Given the description of an element on the screen output the (x, y) to click on. 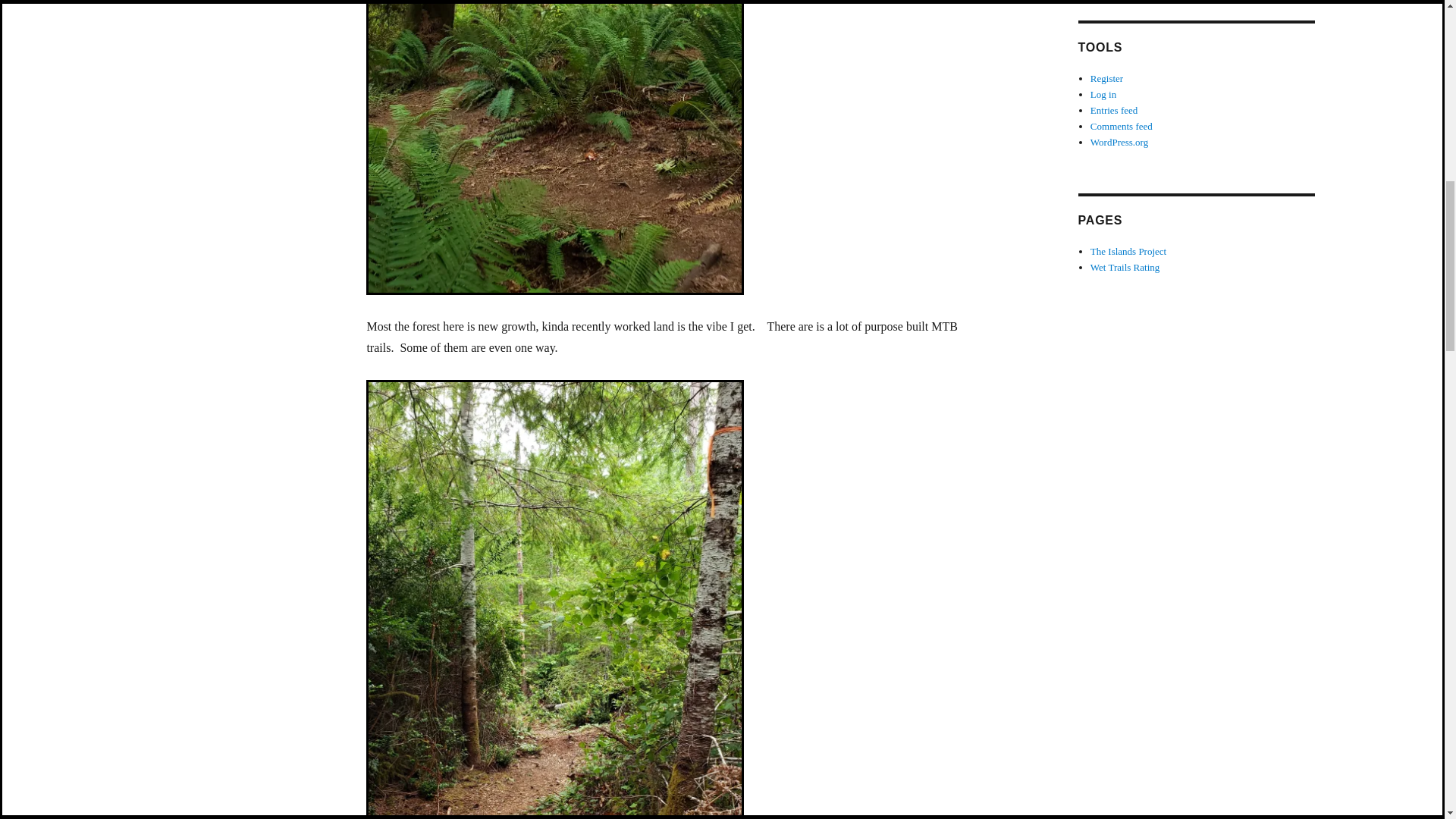
Register (1106, 78)
Log in (1103, 93)
Entries feed (1113, 110)
The Islands Project (1128, 251)
Comments feed (1121, 125)
WordPress.org (1119, 142)
